Given the description of an element on the screen output the (x, y) to click on. 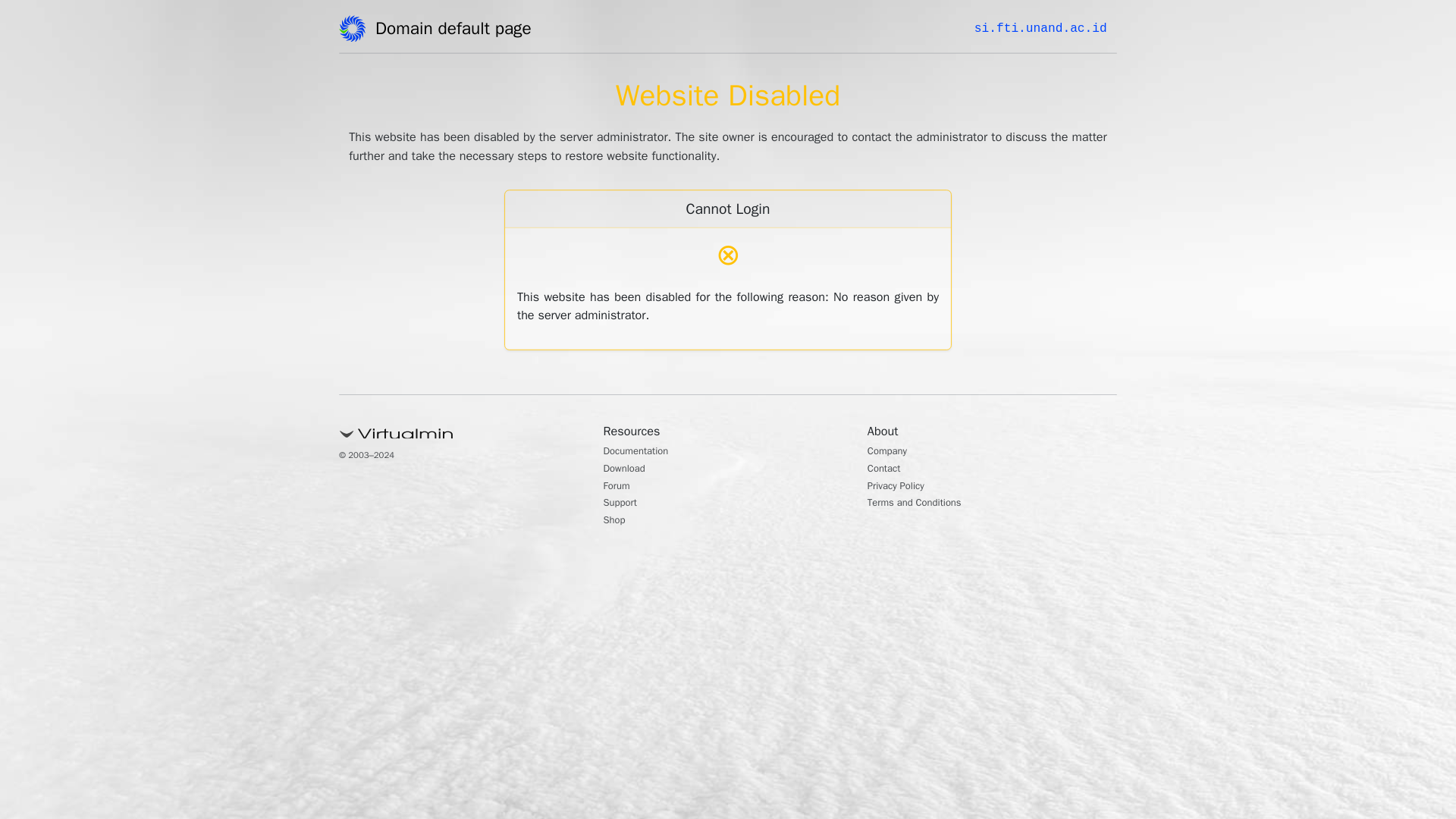
Forum (620, 487)
Contact (887, 469)
Download (629, 469)
Terms and Conditions (925, 503)
Shop (617, 521)
Support (624, 503)
Company (891, 452)
Domain default page (457, 31)
Privacy Policy (902, 487)
Documentation (644, 452)
